Given the description of an element on the screen output the (x, y) to click on. 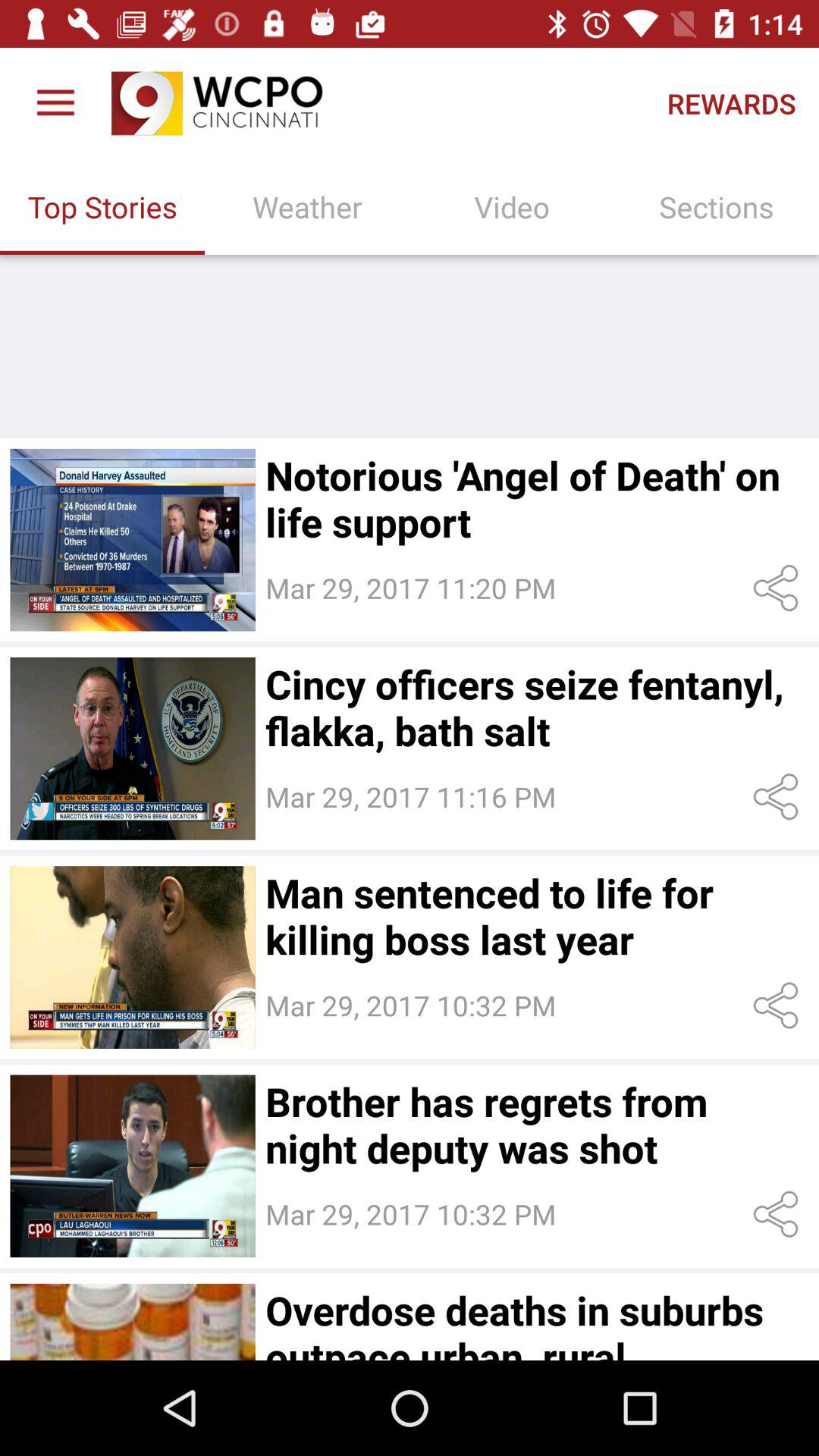
share (778, 1005)
